Given the description of an element on the screen output the (x, y) to click on. 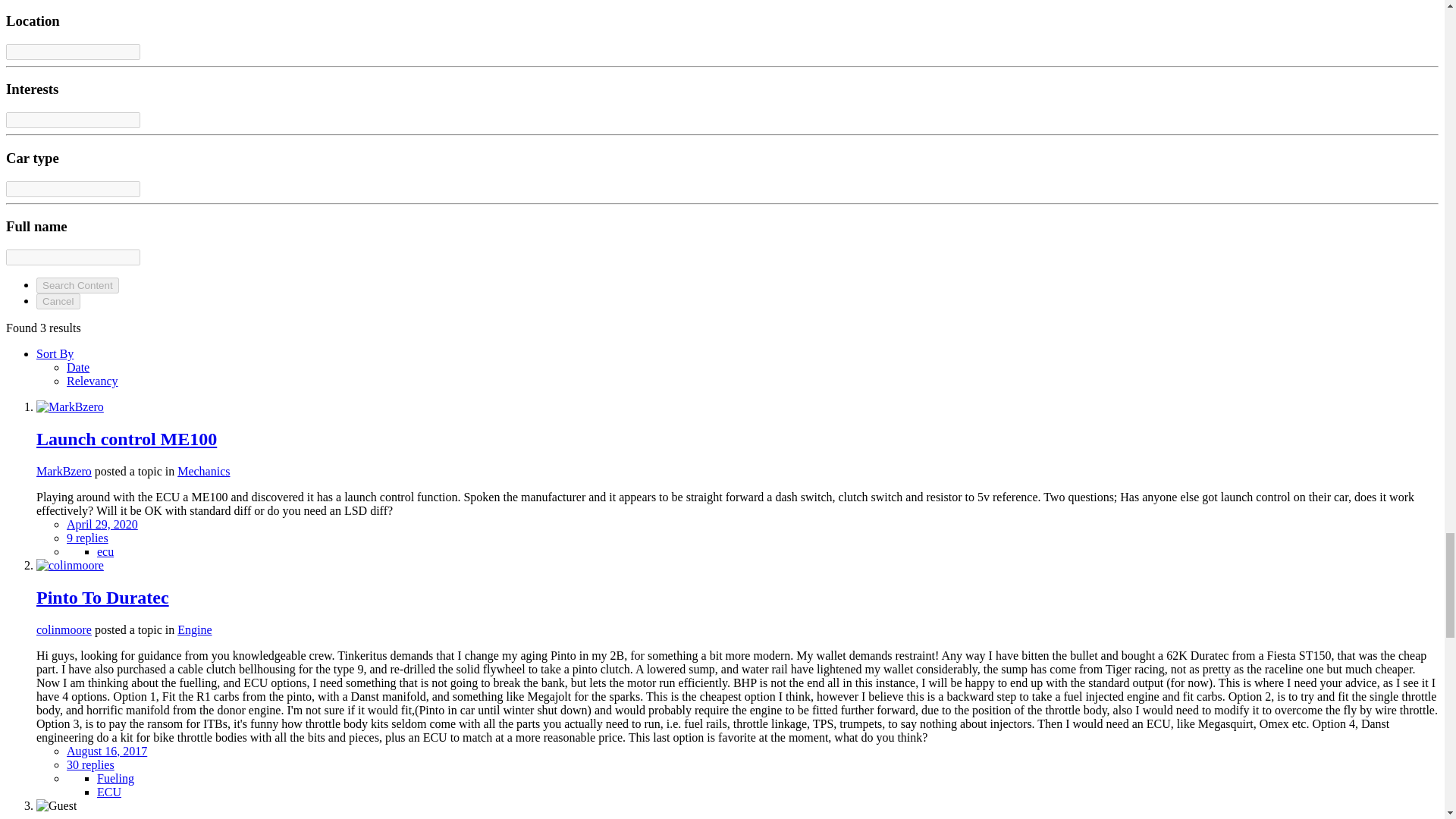
Find other content tagged with 'ecu' (105, 551)
Find other content tagged with 'ECU' (108, 791)
Go to MarkBzero's profile (63, 471)
Go to colinmoore's profile (63, 629)
Go to colinmoore's profile (69, 564)
Find other content tagged with 'Fueling' (115, 778)
Go to MarkBzero's profile (69, 406)
